Given the description of an element on the screen output the (x, y) to click on. 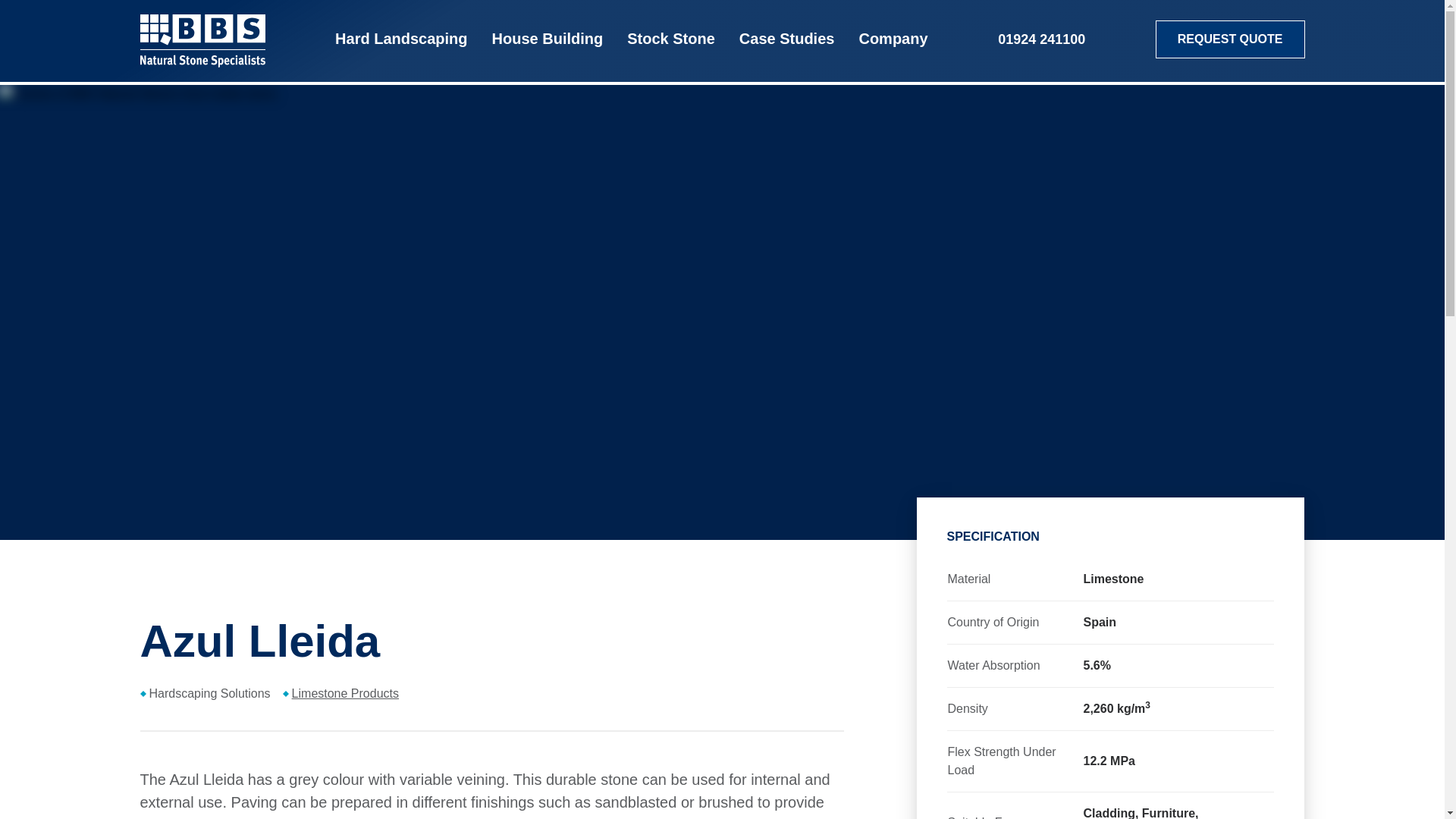
REQUEST QUOTE (400, 40)
01924 241100 (786, 40)
